Given the description of an element on the screen output the (x, y) to click on. 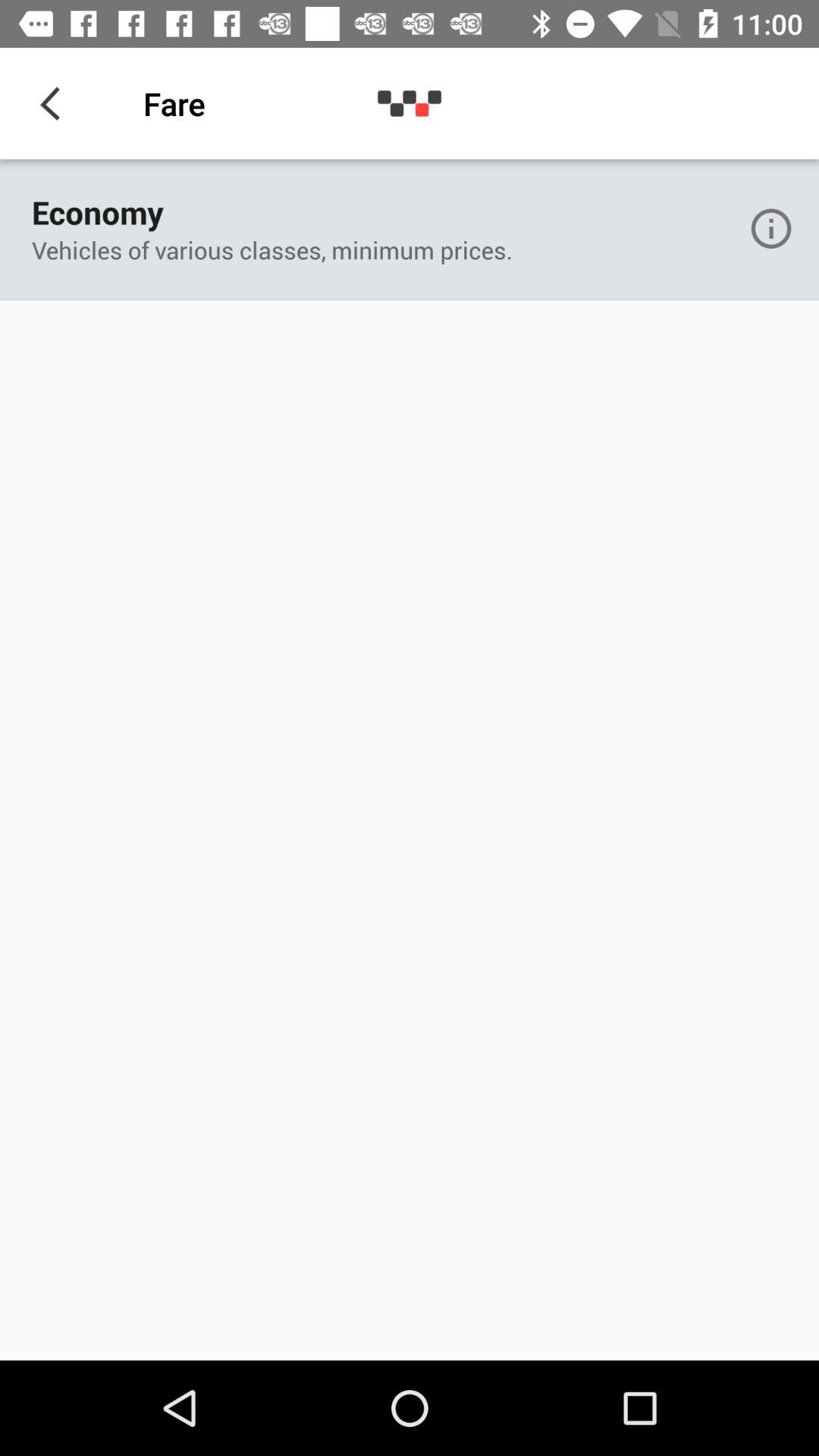
turn on the item to the left of fare item (55, 103)
